Given the description of an element on the screen output the (x, y) to click on. 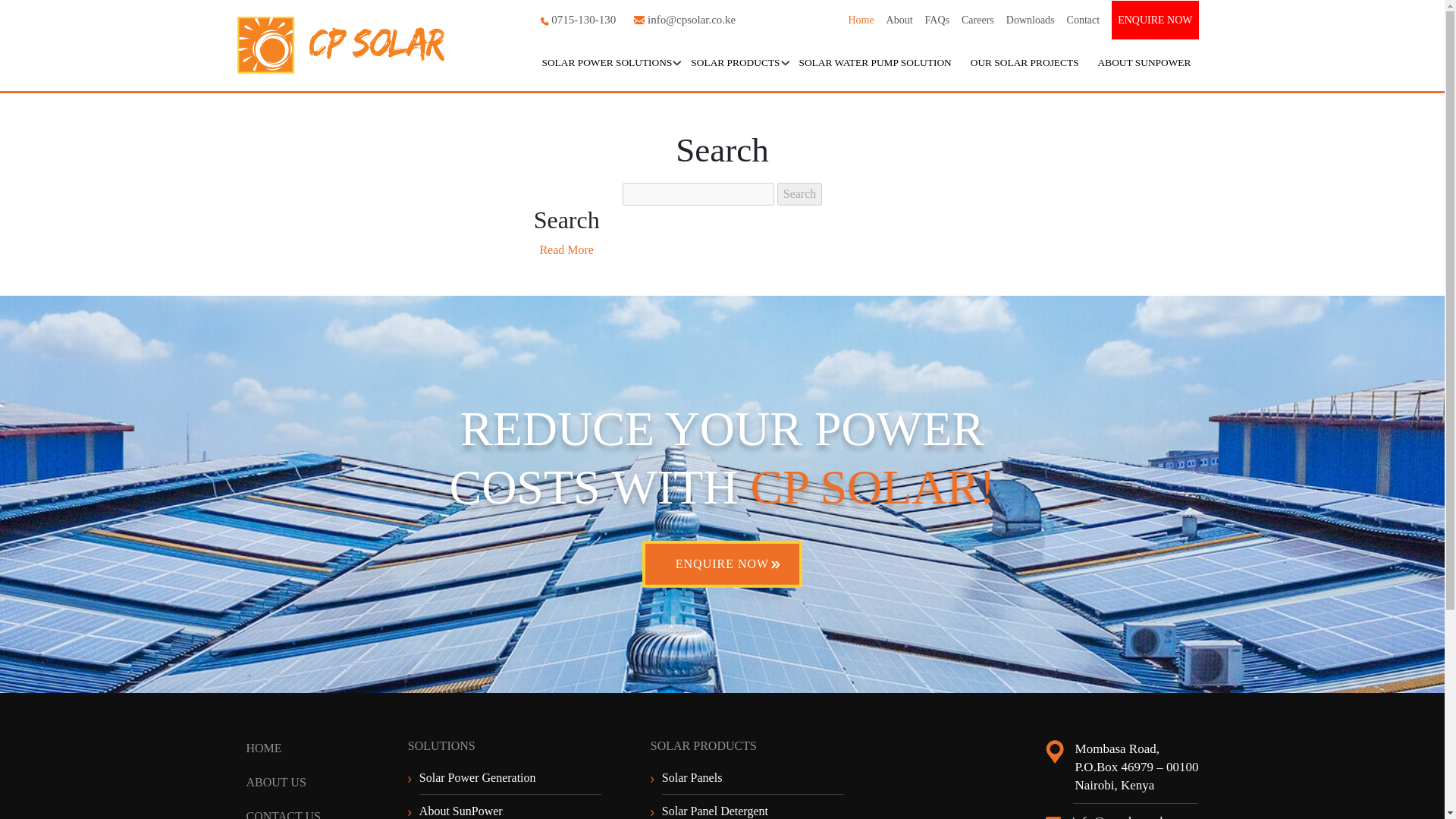
Read More (566, 249)
ENQUIRE NOW (1155, 19)
Contact (1083, 19)
Search (799, 193)
SOLAR WATER PUMP SOLUTION (875, 62)
About (899, 19)
SOLAR POWER SOLUTIONS (606, 62)
CONTACT US (283, 814)
ENQUIRE NOW (722, 564)
OUR SOLAR PROJECTS (1024, 62)
